Given the description of an element on the screen output the (x, y) to click on. 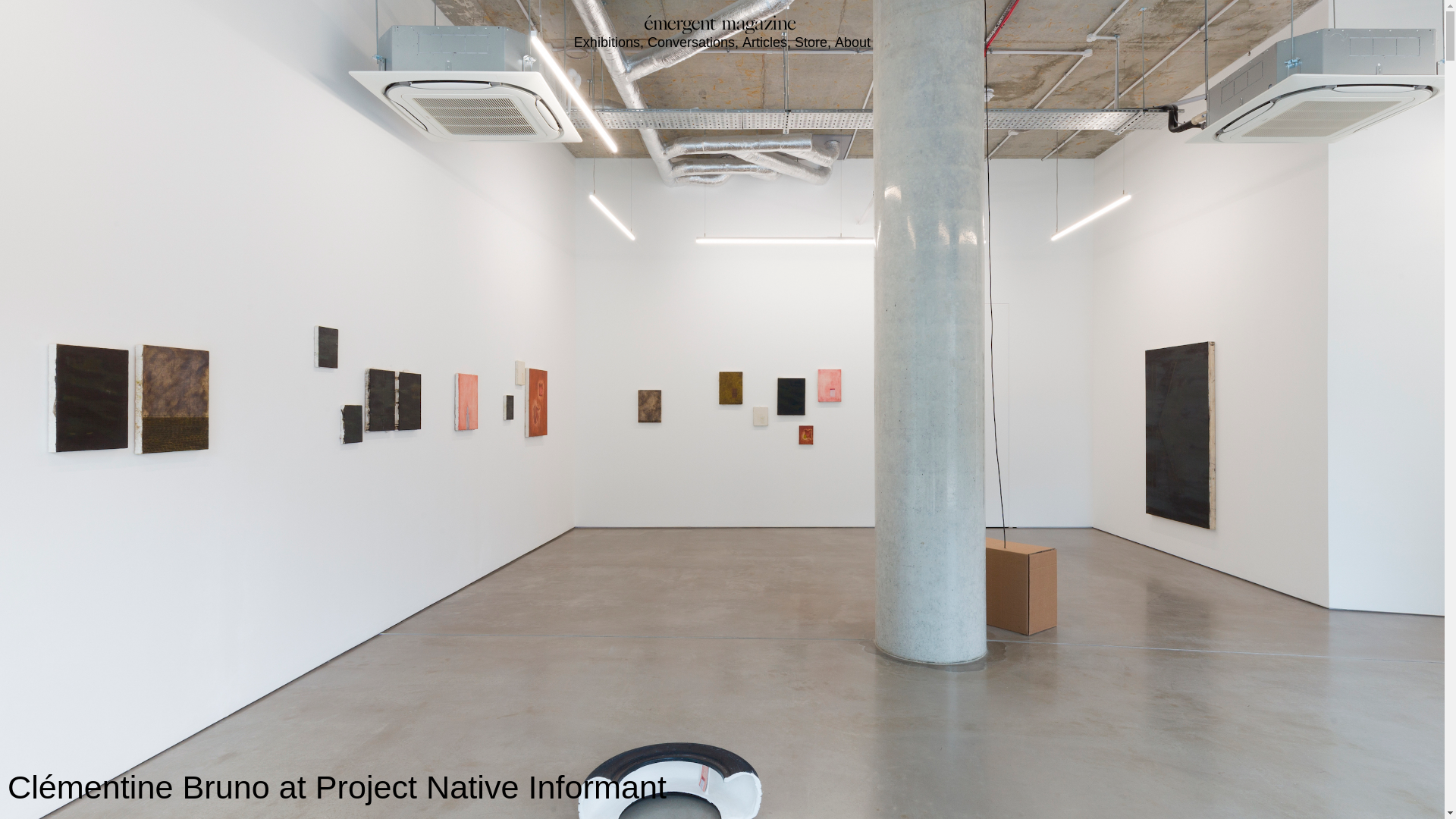
Store (810, 43)
Articles (764, 43)
Conversations (691, 43)
Exhibitions (606, 43)
About (852, 43)
